Given the description of an element on the screen output the (x, y) to click on. 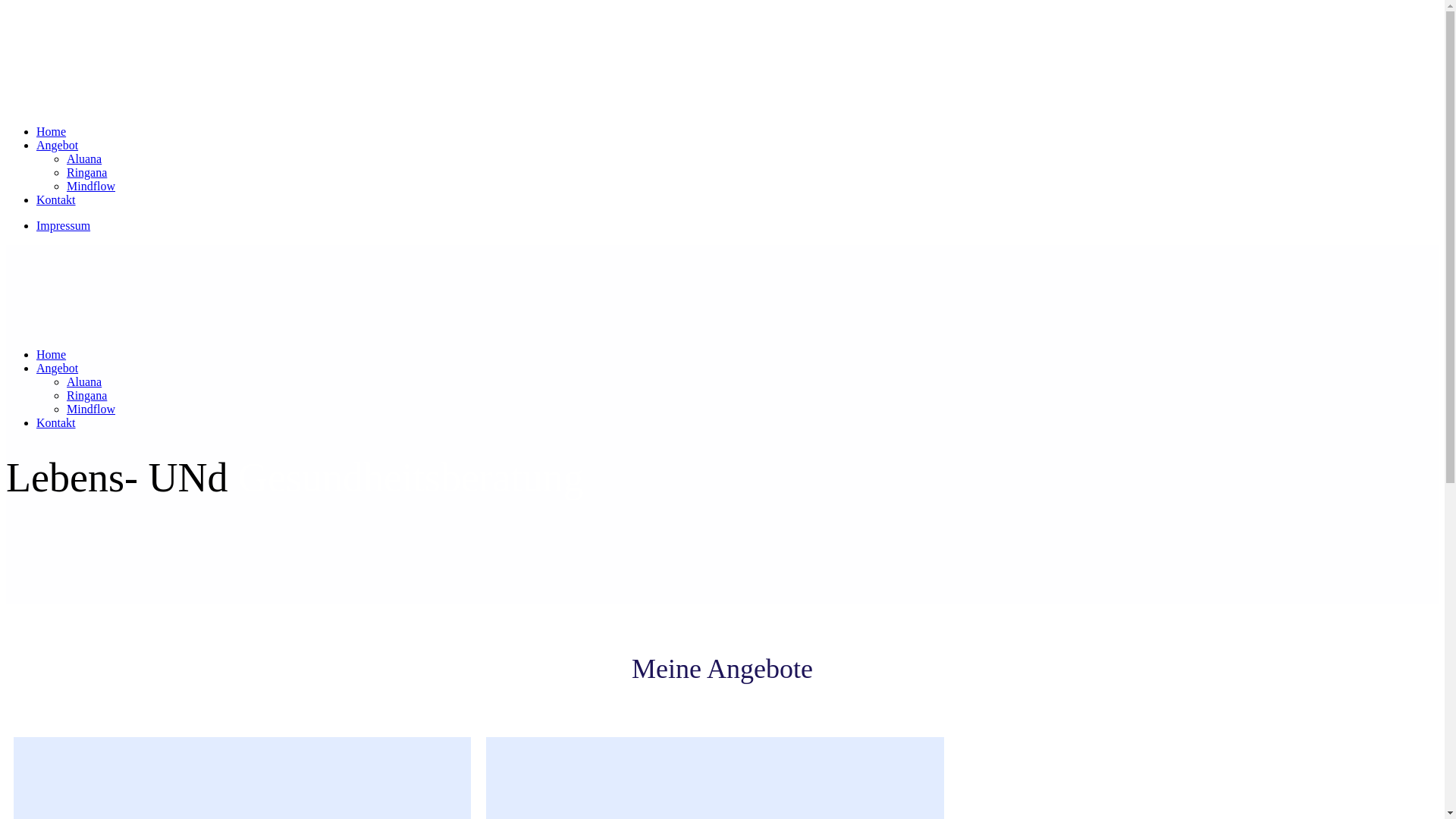
Aluana Element type: text (83, 381)
Kontakt Element type: text (55, 422)
Ringana Element type: text (86, 395)
Mindflow Element type: text (90, 408)
Ringana Element type: text (86, 172)
Aluana Element type: text (83, 158)
Mindflow Element type: text (90, 185)
Kontakt Element type: text (55, 199)
Home Element type: text (50, 354)
Impressum Element type: text (63, 225)
Angebot Element type: text (57, 144)
Angebot Element type: text (57, 367)
Home Element type: text (50, 131)
